Given the description of an element on the screen output the (x, y) to click on. 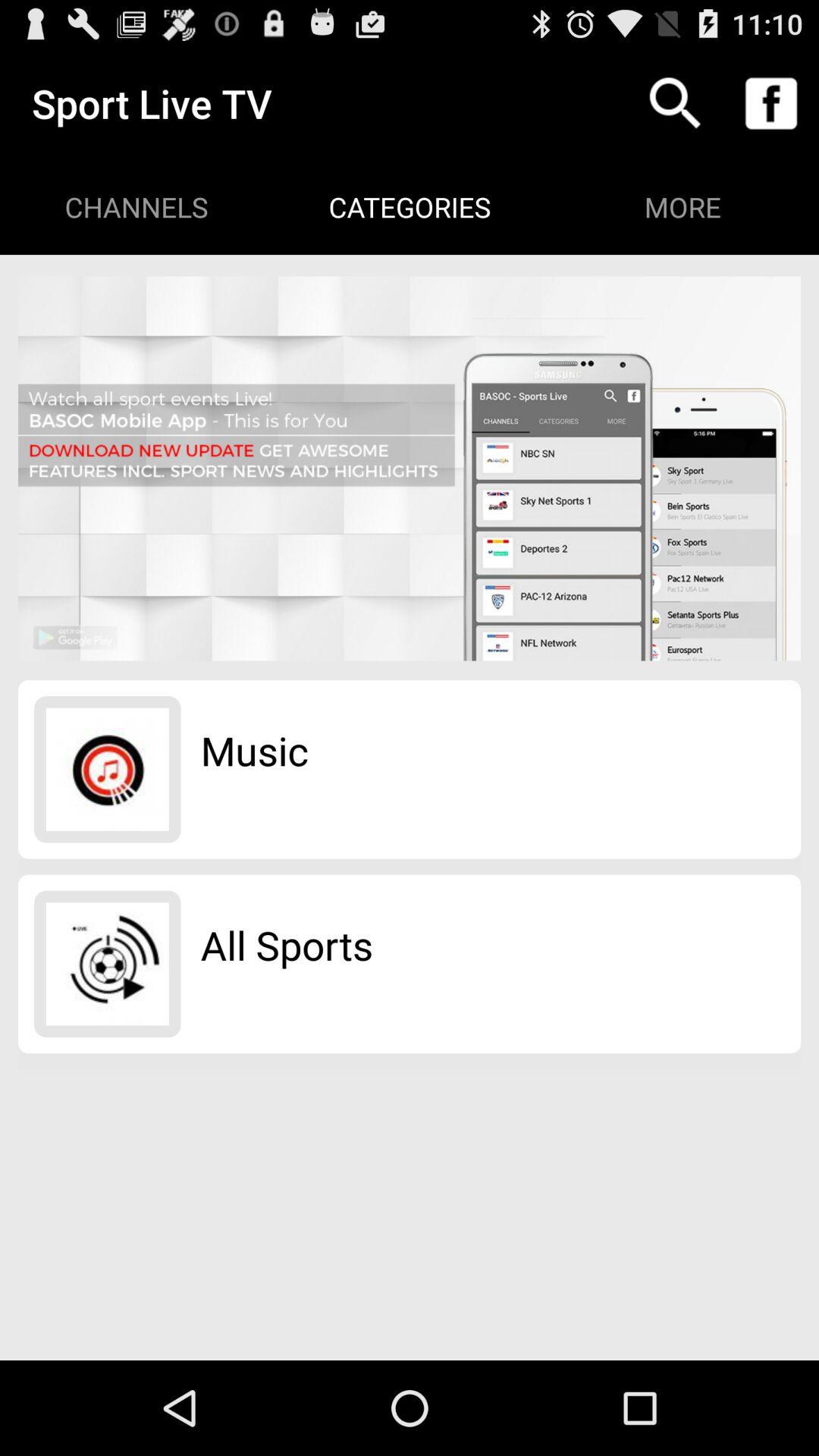
press the app next to the categories item (675, 103)
